Given the description of an element on the screen output the (x, y) to click on. 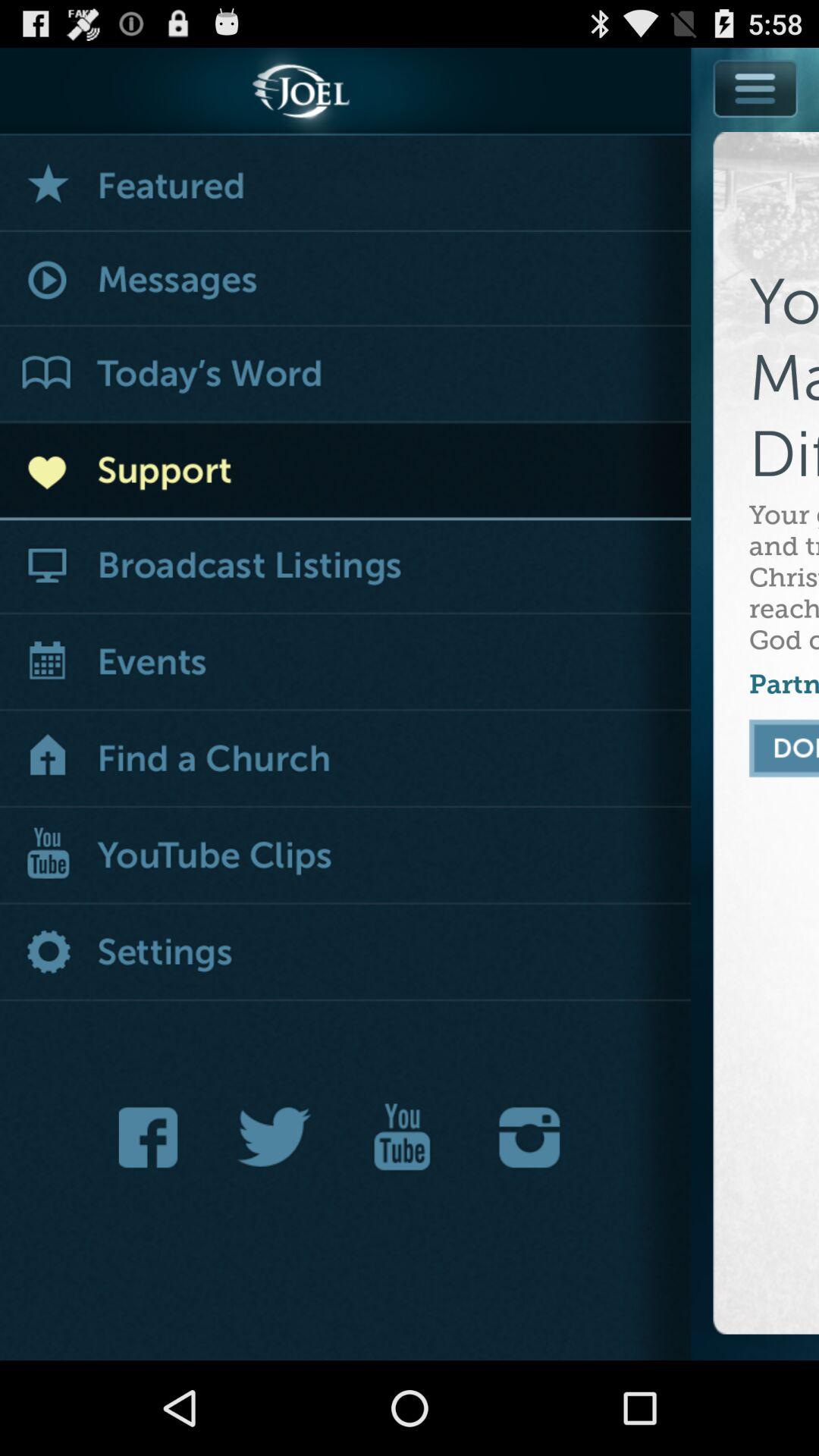
more information (755, 88)
